Given the description of an element on the screen output the (x, y) to click on. 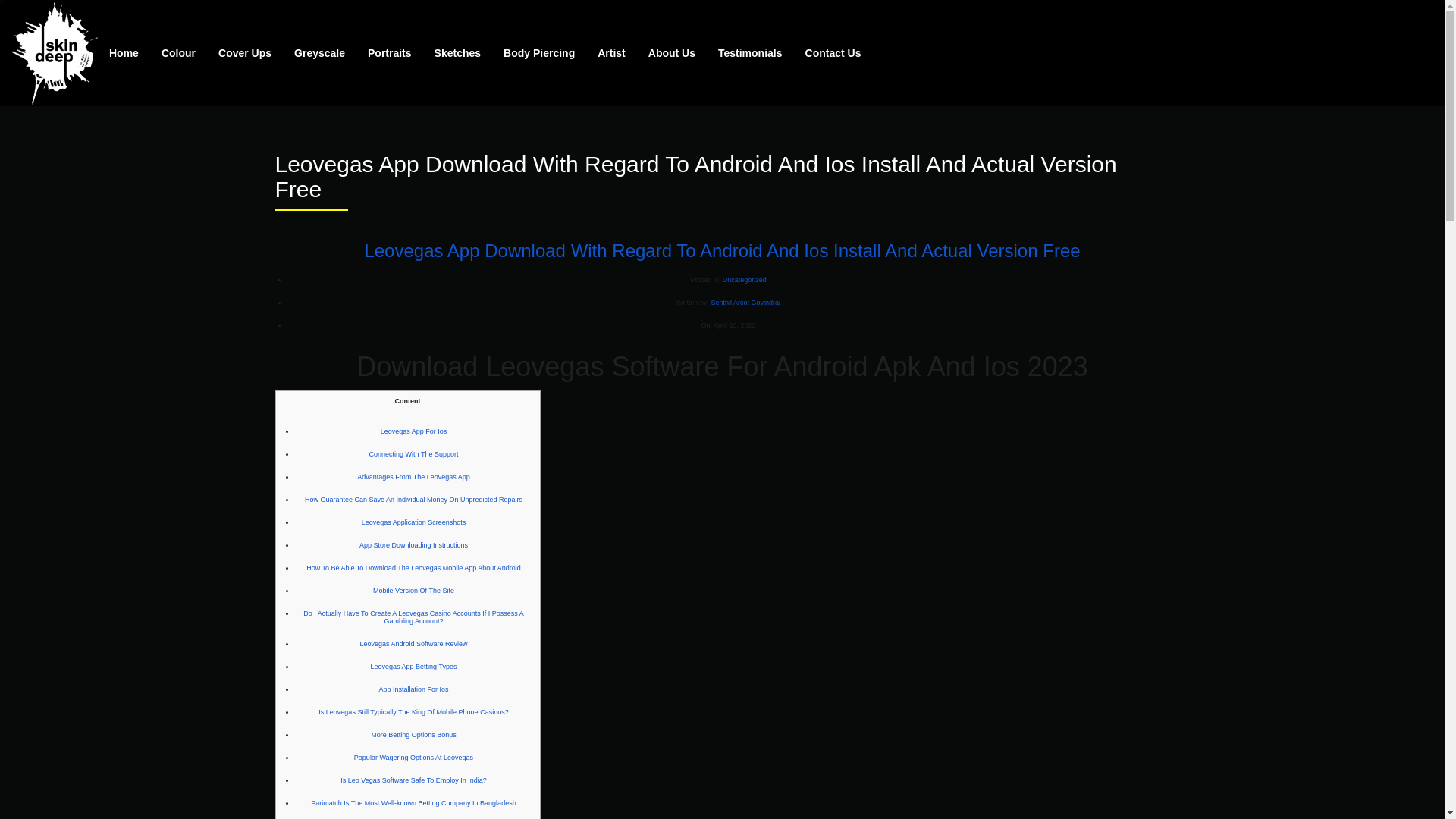
Leovegas Application Screenshots (413, 522)
Leovegas Android Software Review (413, 643)
App Installation For Ios (413, 688)
App Store Downloading Instructions (413, 544)
Is Leo Vegas Software Safe To Employ In India? (413, 779)
Uncategorized (744, 279)
Senthil Arcot Govindraj (745, 302)
Advantages From The Leovegas App (412, 476)
Mobile Version Of The Site (413, 590)
Leovegas App Betting Types (414, 666)
